Given the description of an element on the screen output the (x, y) to click on. 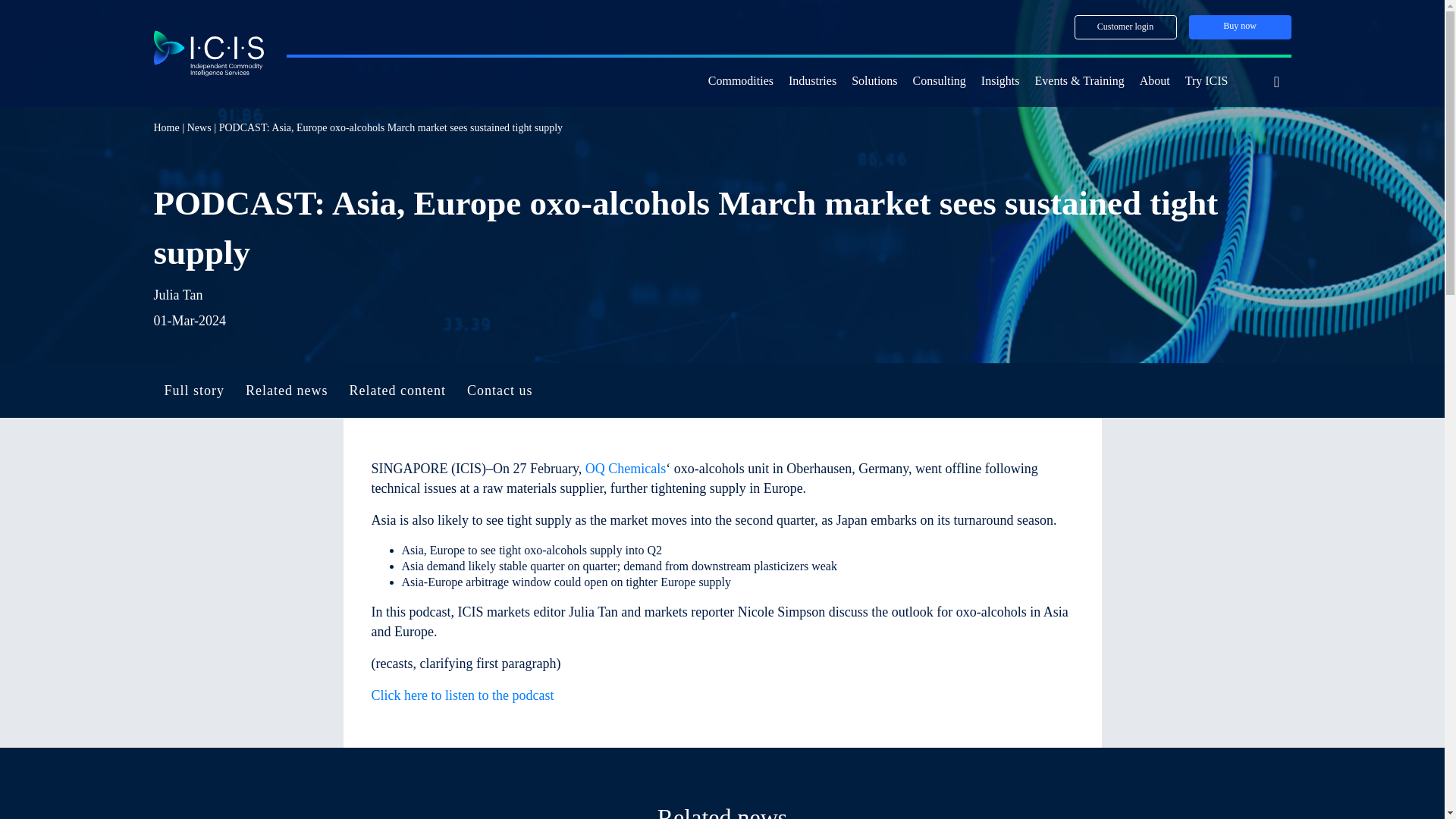
Industries (812, 82)
Commodities (740, 82)
Consulting (939, 82)
Commodities (740, 82)
Solutions (873, 82)
Customer login (1125, 27)
Buy now (1240, 27)
Insights (1000, 82)
Industries (812, 82)
Customer login (1125, 27)
